Given the description of an element on the screen output the (x, y) to click on. 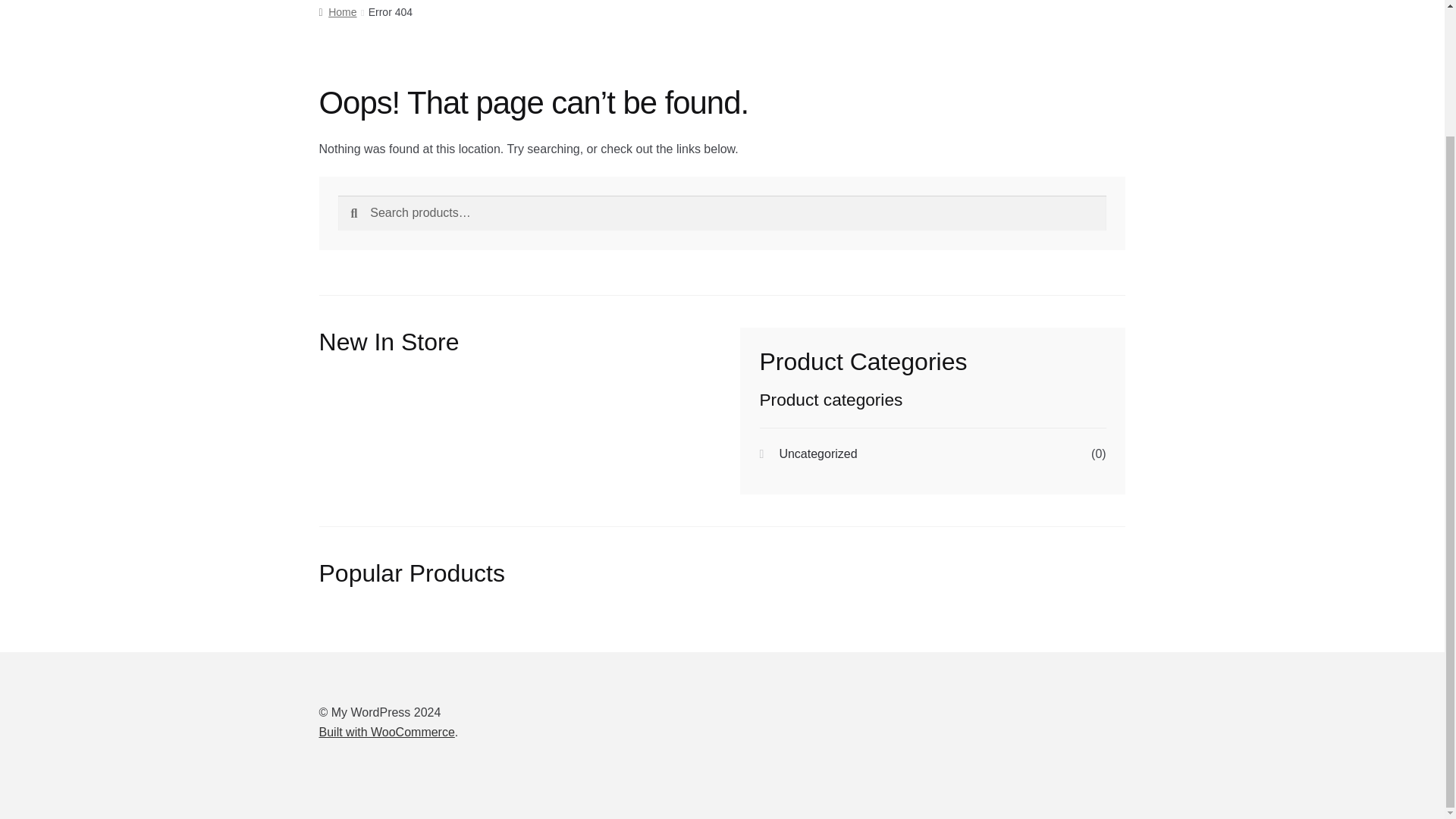
WooCommerce - The Best eCommerce Platform for WordPress (386, 731)
Uncategorized (817, 453)
Built with WooCommerce (386, 731)
Home (337, 11)
